Given the description of an element on the screen output the (x, y) to click on. 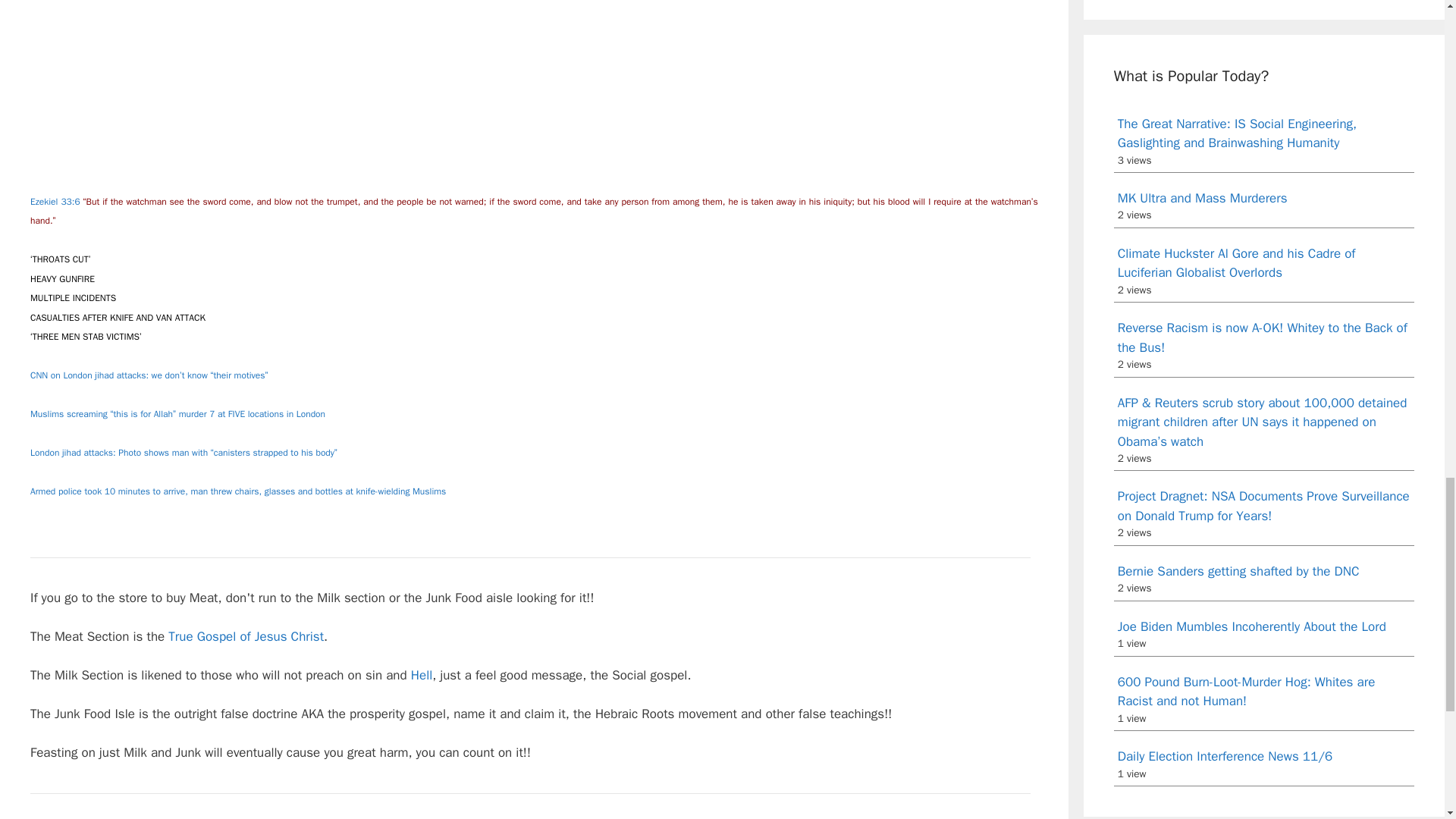
HEAVY GUNFIRE (62, 278)
Ezekiel 33:6 (55, 201)
CASUALTIES AFTER KNIFE AND VAN ATTACK (117, 317)
MULTIPLE INCIDENTS (73, 297)
